Given the description of an element on the screen output the (x, y) to click on. 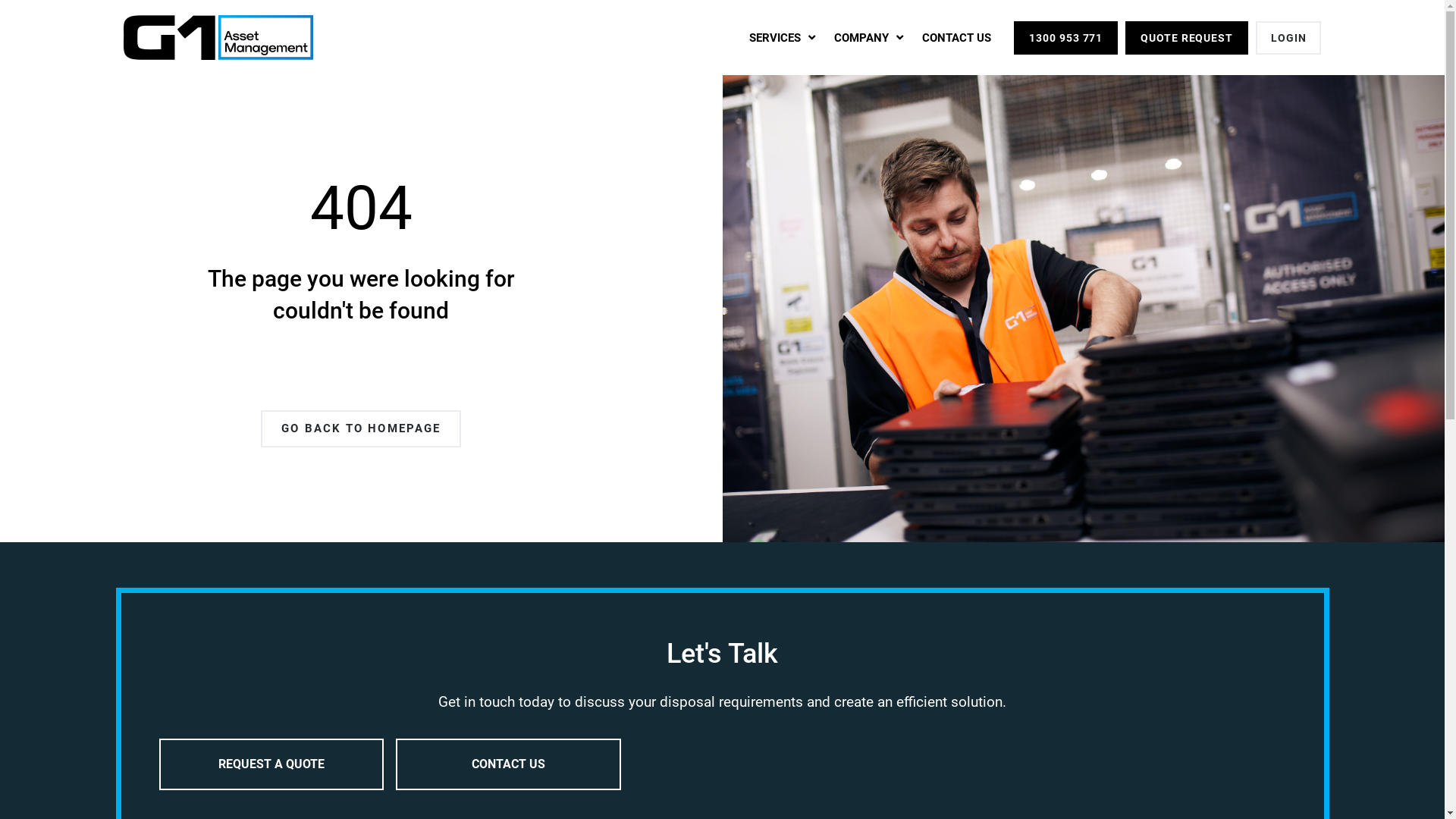
LOGIN Element type: text (1288, 37)
CONTACT US Element type: text (508, 764)
1300 953 771 Element type: text (1065, 37)
SERVICES Element type: text (782, 36)
GO BACK TO HOMEPAGE Element type: text (360, 428)
REQUEST A QUOTE Element type: text (271, 764)
CONTACT US Element type: text (956, 36)
COMPANY Element type: text (868, 36)
QUOTE REQUEST Element type: text (1186, 37)
